Given the description of an element on the screen output the (x, y) to click on. 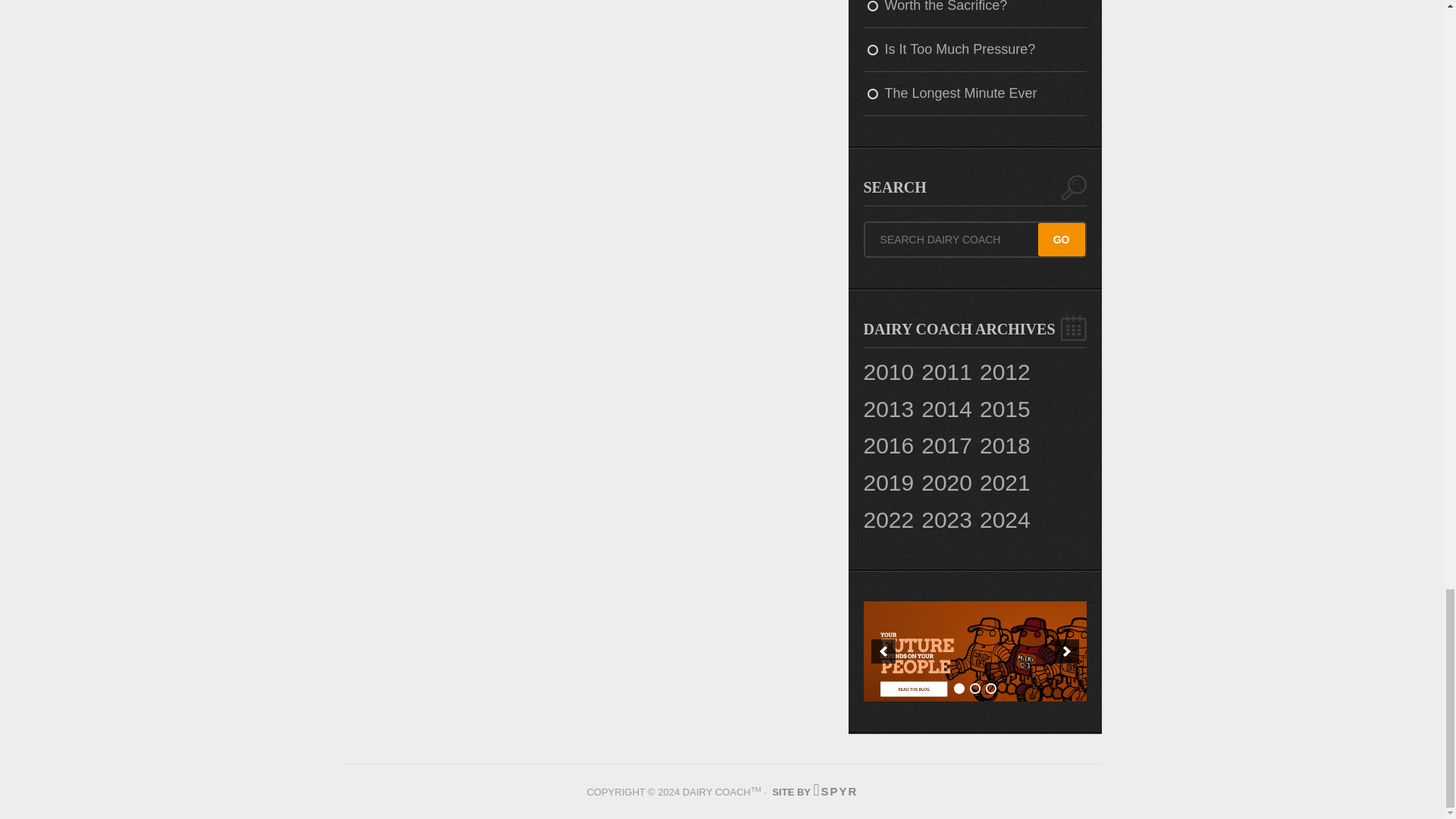
2011 (946, 372)
2015 (1004, 409)
Is It Too Much Pressure? (974, 49)
2013 (888, 409)
Go (1061, 239)
HP-Slide1 (974, 651)
Go (1061, 239)
2014 (946, 409)
The Longest Minute Ever (974, 94)
2012 (1004, 372)
